Given the description of an element on the screen output the (x, y) to click on. 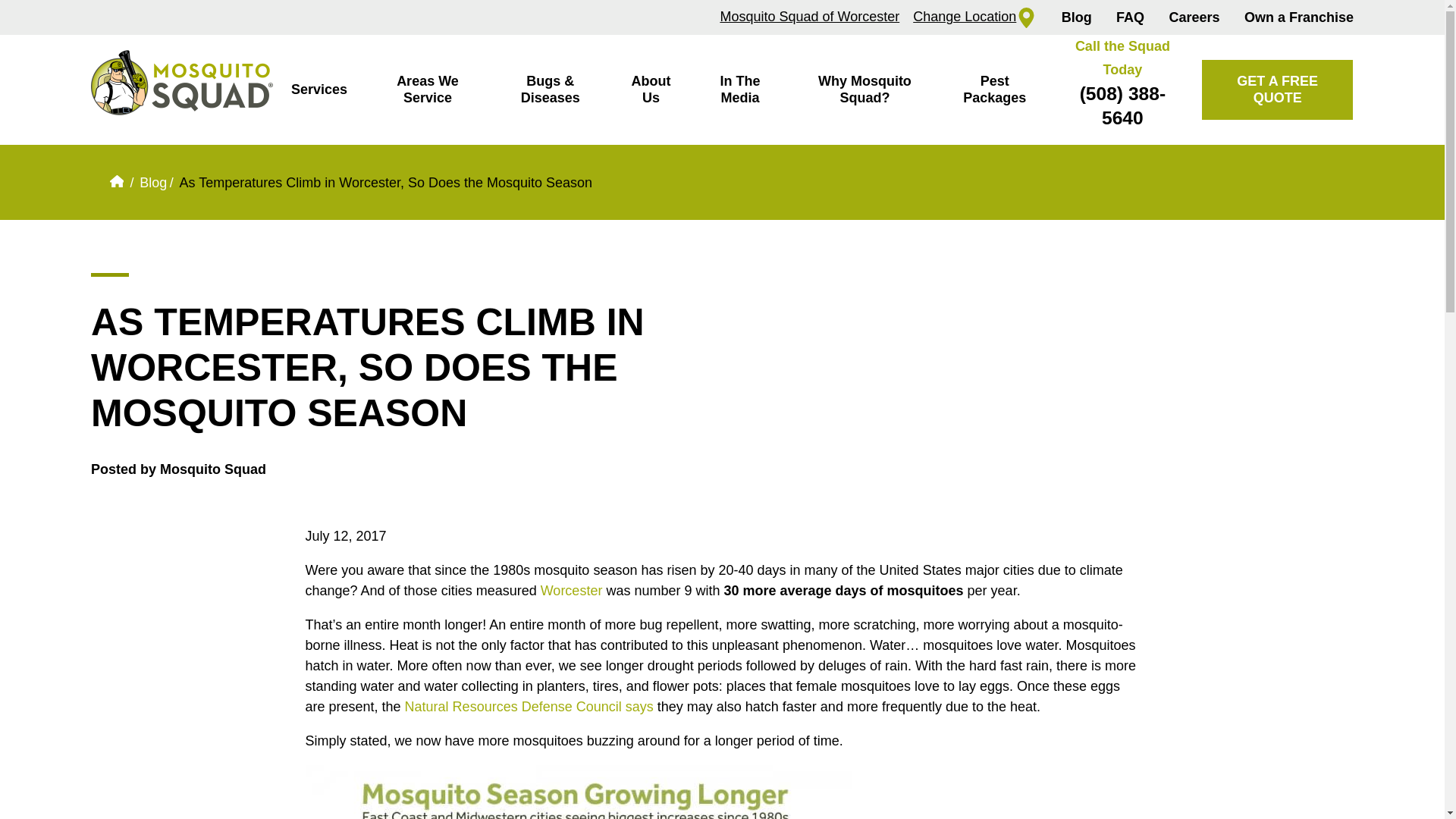
Services (319, 89)
FAQ (1130, 17)
Mosquito Squad of Worcester (809, 17)
In The Media (739, 89)
Areas We Service (427, 89)
Blog (1076, 17)
Change Location (974, 17)
About Us (650, 89)
Pest Packages (994, 89)
Own a Franchise (1299, 17)
